Given the description of an element on the screen output the (x, y) to click on. 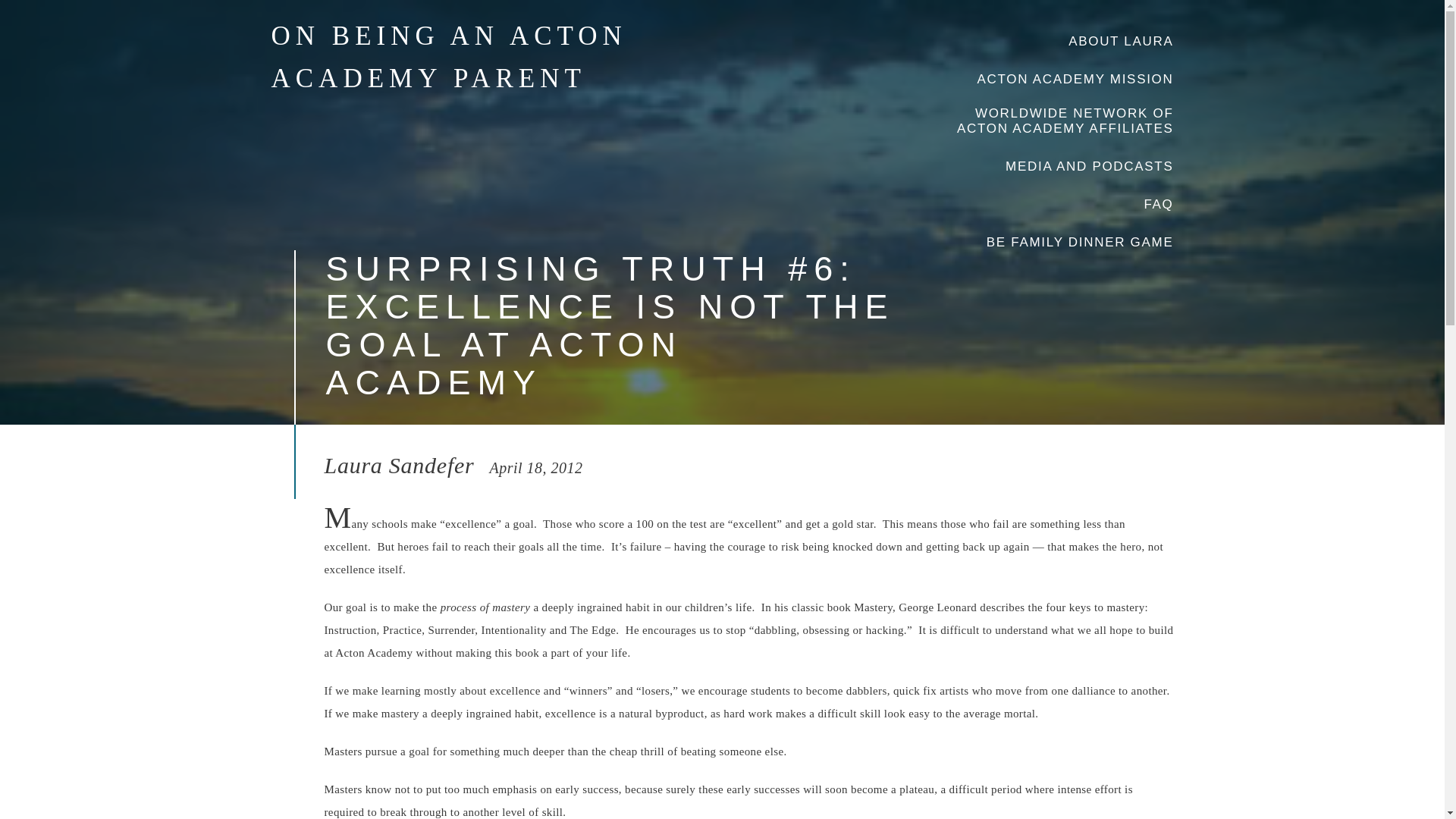
BE FAMILY DINNER GAME (1080, 242)
ABOUT LAURA (1120, 41)
Acton Academy Mission (1074, 79)
Be Family Dinner Game (1080, 242)
ON BEING AN ACTON ACADEMY PARENT (448, 57)
MEDIA AND PODCASTS (1089, 166)
Worldwide Network of Acton Academy Affiliates (1059, 121)
About Laura (1120, 41)
FAQ (1157, 204)
ACTON ACADEMY MISSION (1074, 79)
FAQ (1157, 204)
Media and Podcasts (1089, 166)
WORLDWIDE NETWORK OF ACTON ACADEMY AFFILIATES (1059, 121)
